Given the description of an element on the screen output the (x, y) to click on. 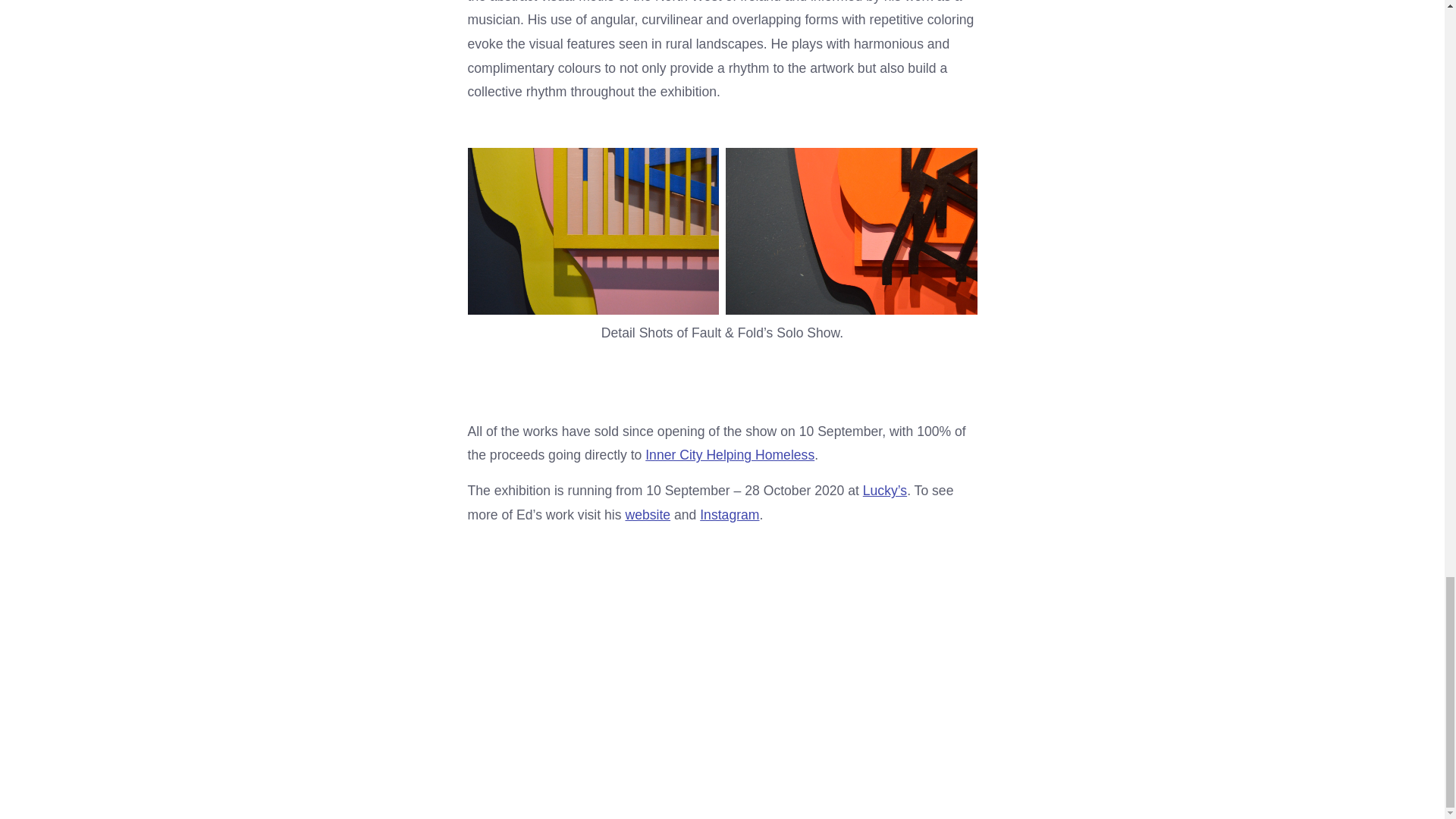
Inner City Helping Homeless (729, 454)
About (309, 716)
Open Instagram in a new tab (1155, 714)
Privacy Policy (440, 751)
Instagram (729, 514)
Archive (399, 716)
website (646, 514)
